Given the description of an element on the screen output the (x, y) to click on. 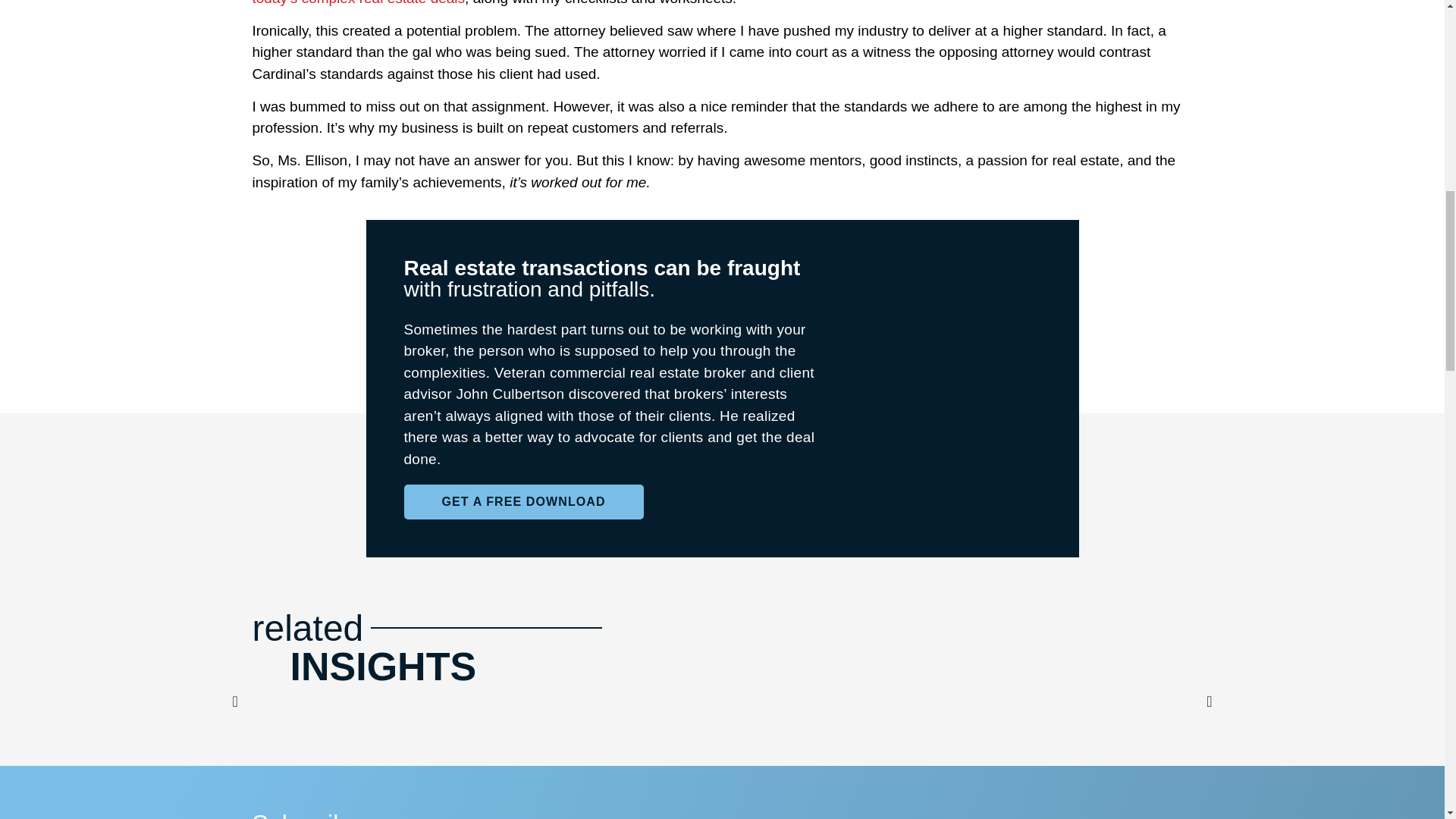
GET A FREE DOWNLOAD (523, 501)
